Given the description of an element on the screen output the (x, y) to click on. 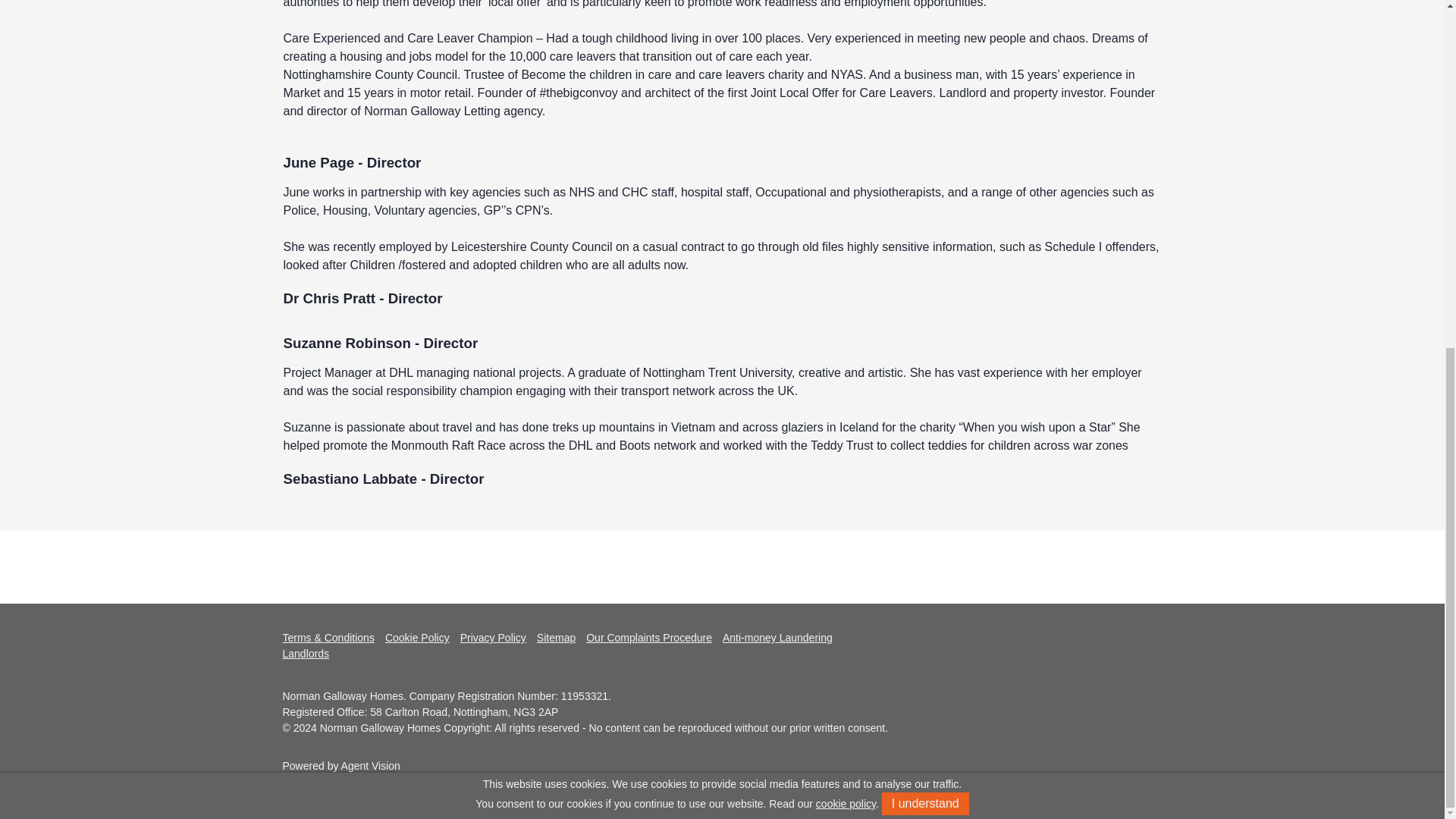
Powered by Agent Vision (340, 765)
I understand (925, 202)
Cookie Policy (417, 637)
Our Complaints Procedure (648, 637)
Privacy Policy (492, 637)
Sitemap (556, 637)
cookie policy (845, 203)
Anti-money Laundering (777, 637)
Landlords (305, 653)
